Given the description of an element on the screen output the (x, y) to click on. 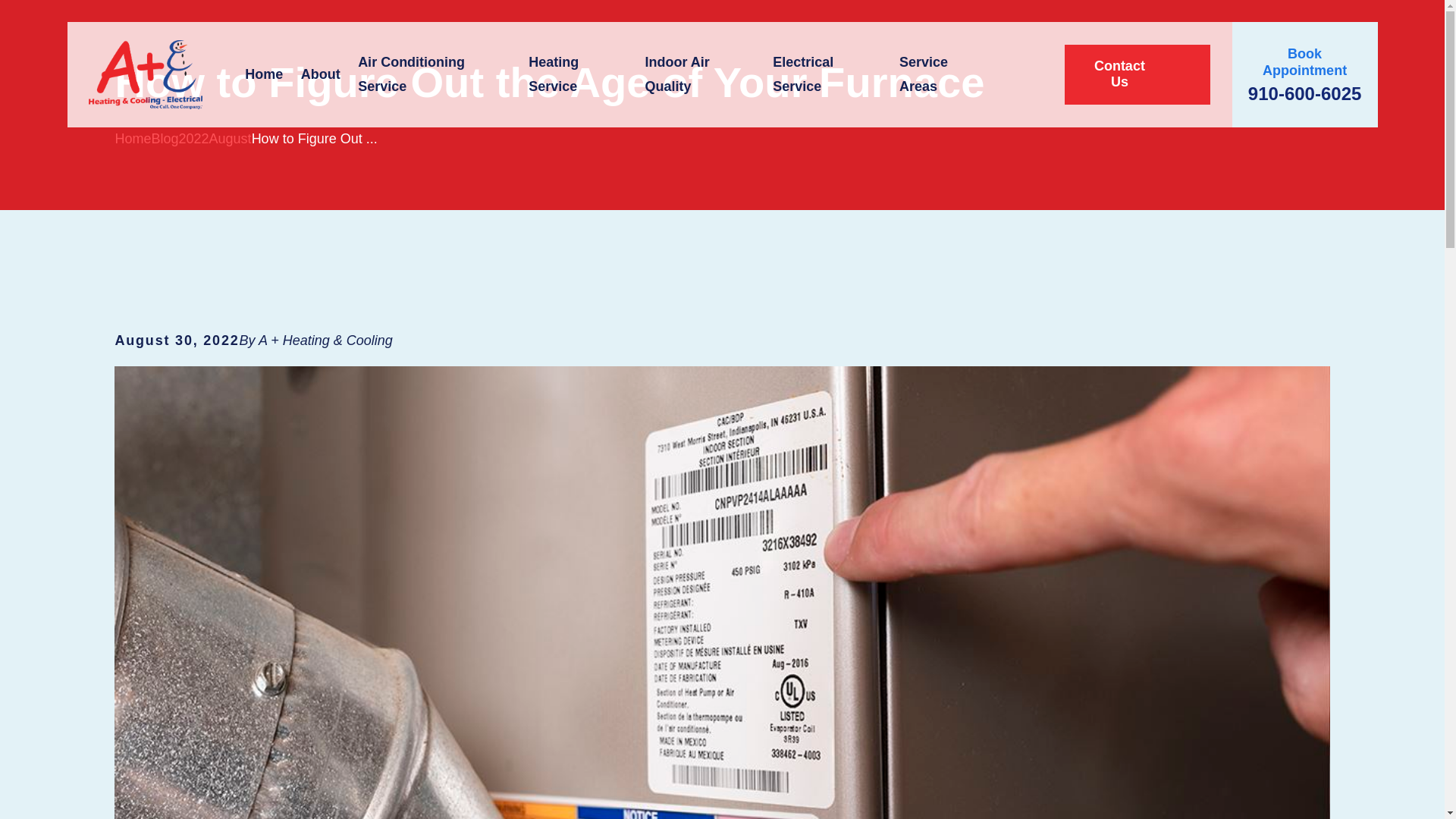
Indoor Air Quality (699, 74)
Go Home (133, 138)
Home (145, 74)
Heating Service (577, 74)
Electrical Service (826, 74)
Air Conditioning Service (434, 74)
